Given the description of an element on the screen output the (x, y) to click on. 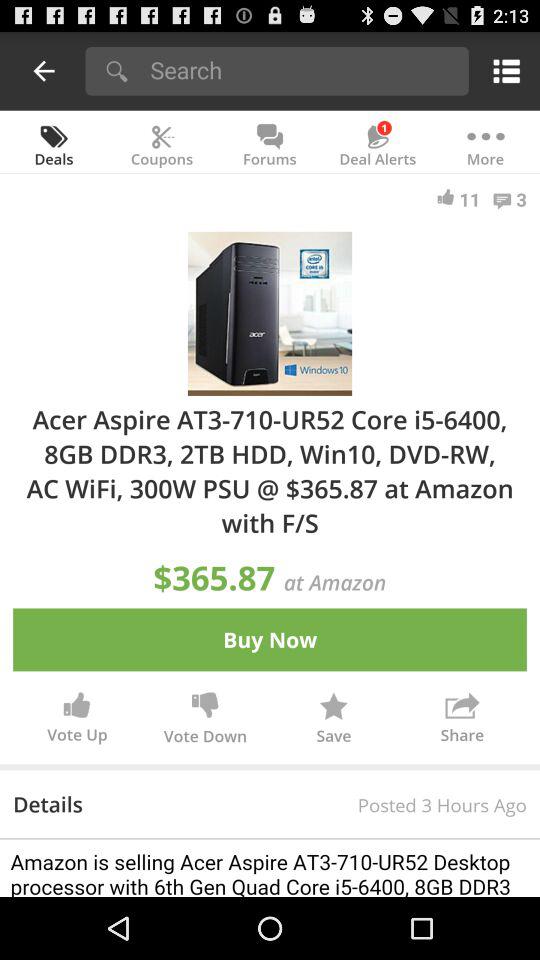
type to search (302, 69)
